Given the description of an element on the screen output the (x, y) to click on. 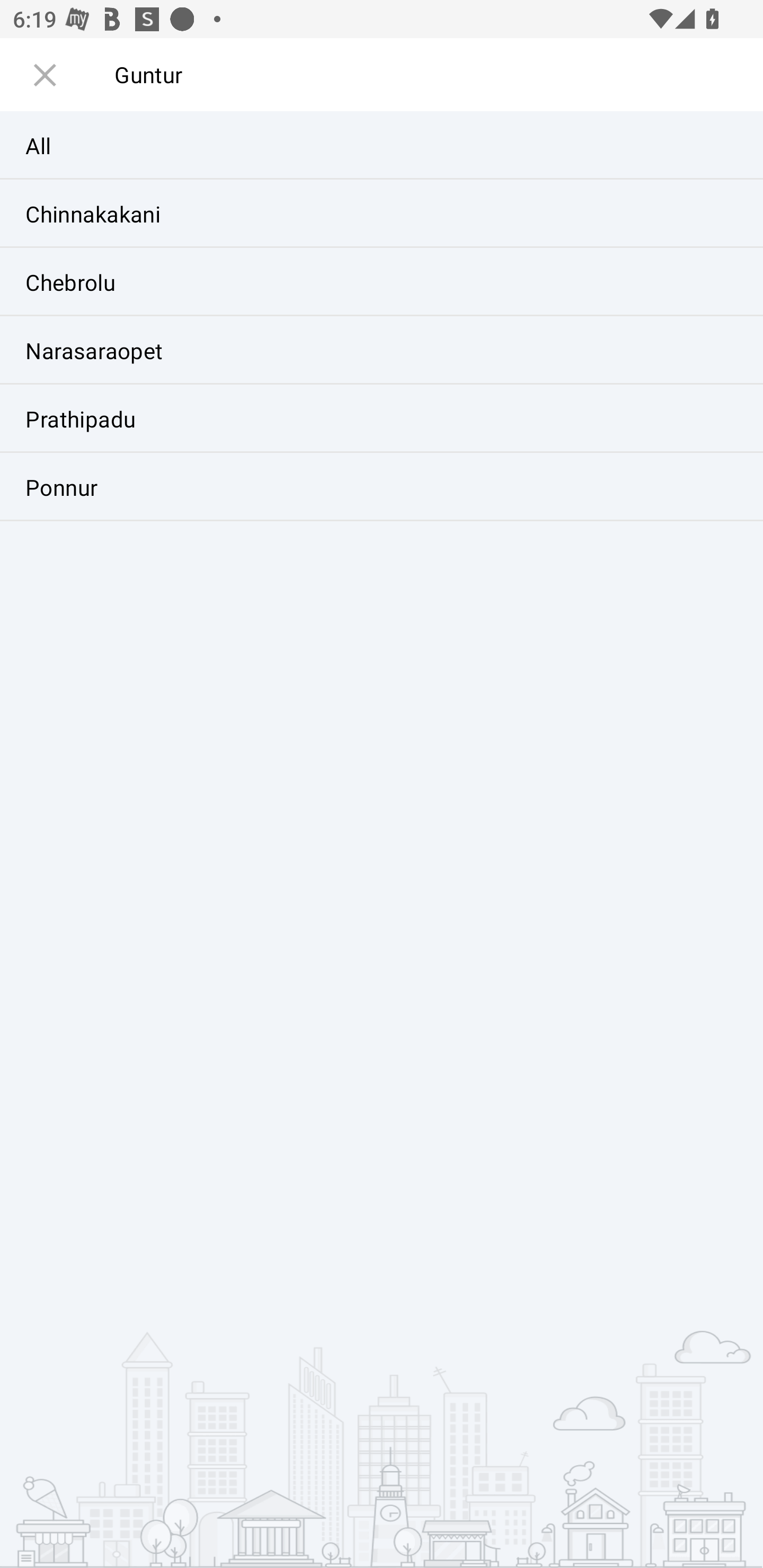
Back (44, 82)
All (381, 145)
Chinnakakani (381, 213)
Chebrolu (381, 281)
Narasaraopet (381, 350)
Delhi-NCR (95, 452)
Ponnur (381, 486)
